Given the description of an element on the screen output the (x, y) to click on. 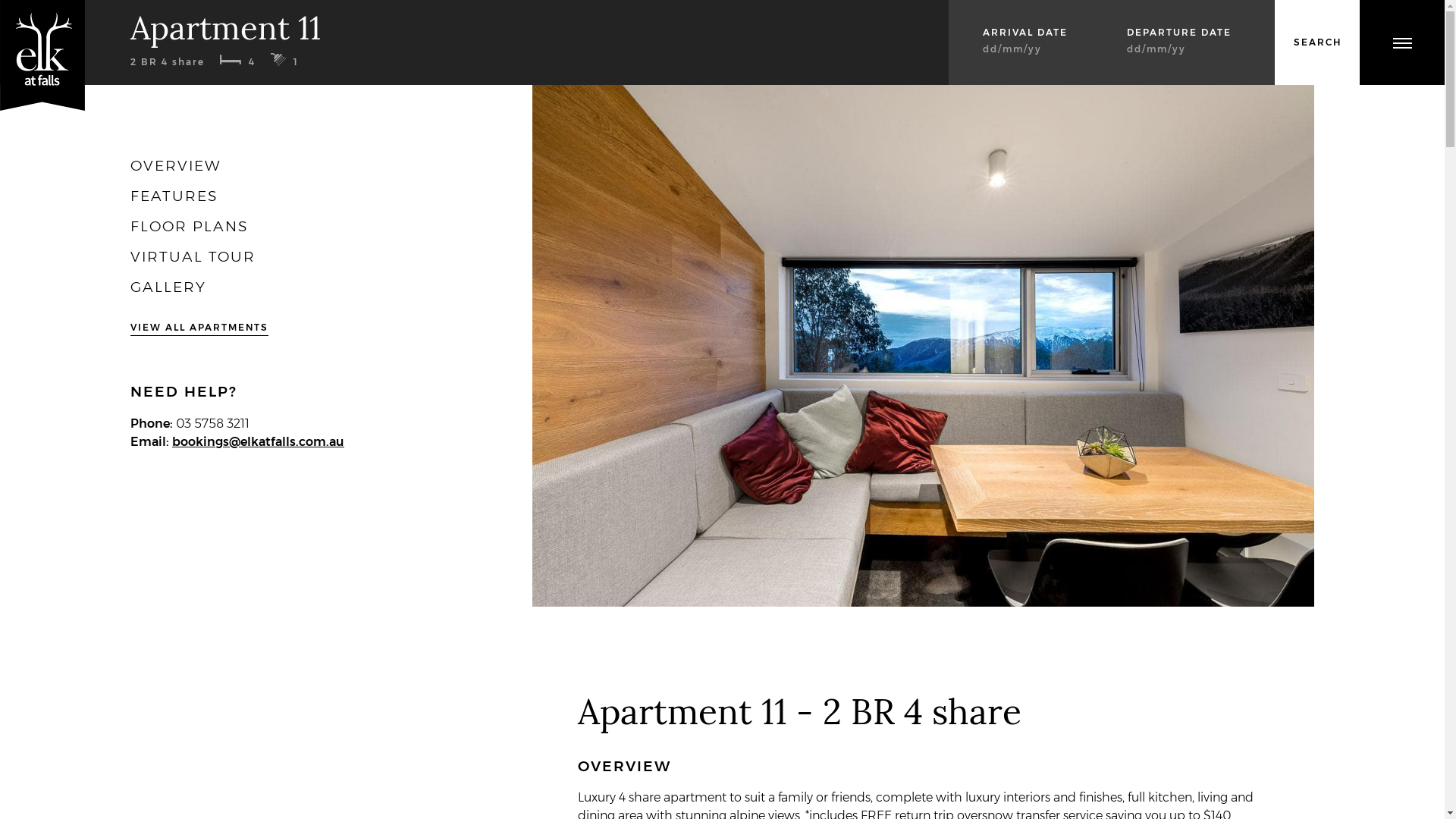
GALLERY Element type: text (168, 286)
VIRTUAL TOUR Element type: text (192, 256)
OVERVIEW Element type: text (175, 165)
FLOOR PLANS Element type: text (189, 226)
bookings@elkatfalls.com.au Element type: text (258, 440)
VIEW ALL APARTMENTS Element type: text (199, 327)
FEATURES Element type: text (174, 195)
Search Element type: text (1316, 42)
toggle menu Element type: text (1401, 42)
